Given the description of an element on the screen output the (x, y) to click on. 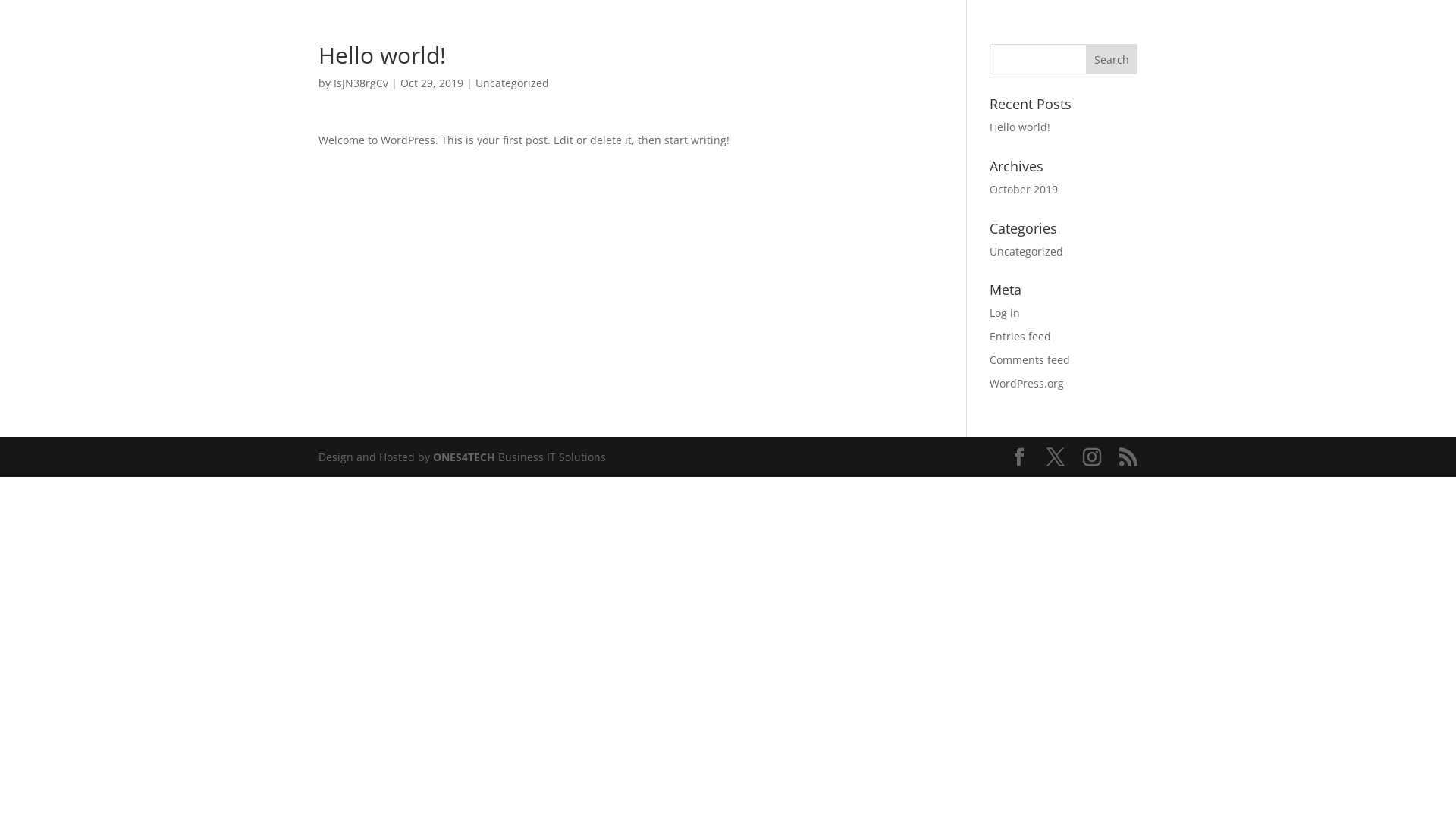
Uncategorized Element type: text (512, 82)
Comments feed Element type: text (1029, 359)
IsJN38rgCv Element type: text (360, 82)
Hello world! Element type: text (1019, 126)
Entries feed Element type: text (1020, 336)
October 2019 Element type: text (1023, 189)
ONES4TECH Element type: text (465, 456)
WordPress.org Element type: text (1026, 383)
Log in Element type: text (1004, 312)
Search Element type: text (1111, 58)
Uncategorized Element type: text (1026, 251)
